Given the description of an element on the screen output the (x, y) to click on. 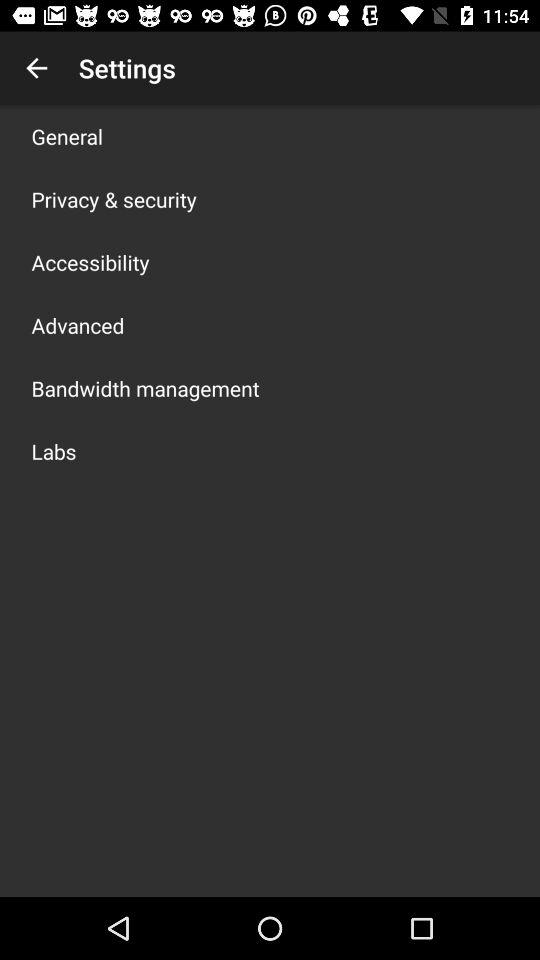
open icon below general app (113, 199)
